Given the description of an element on the screen output the (x, y) to click on. 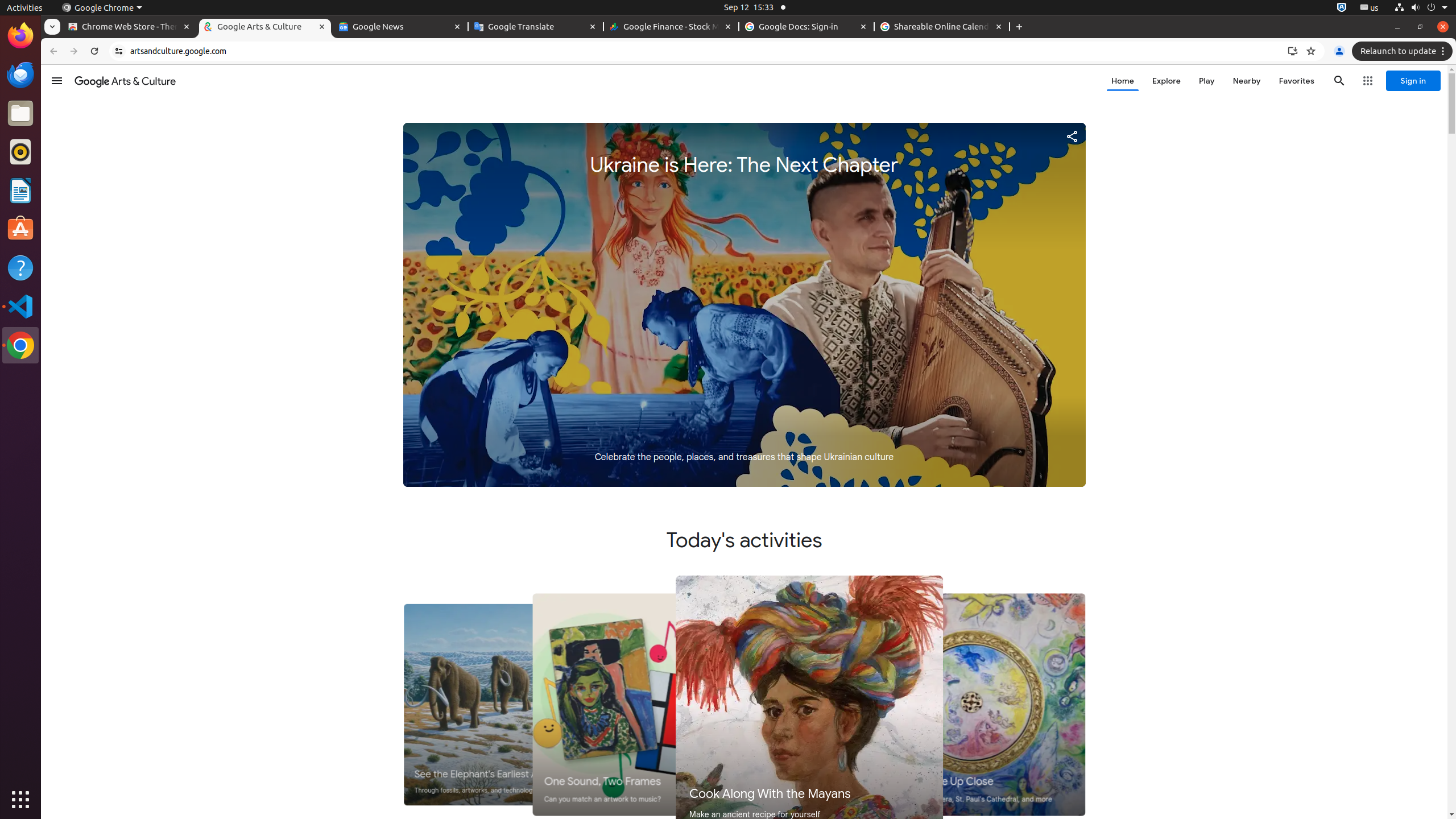
Explore Element type: link (1165, 80)
Sign in Element type: link (1413, 80)
Install Google Arts & Culture Element type: push-button (1292, 51)
